Given the description of an element on the screen output the (x, y) to click on. 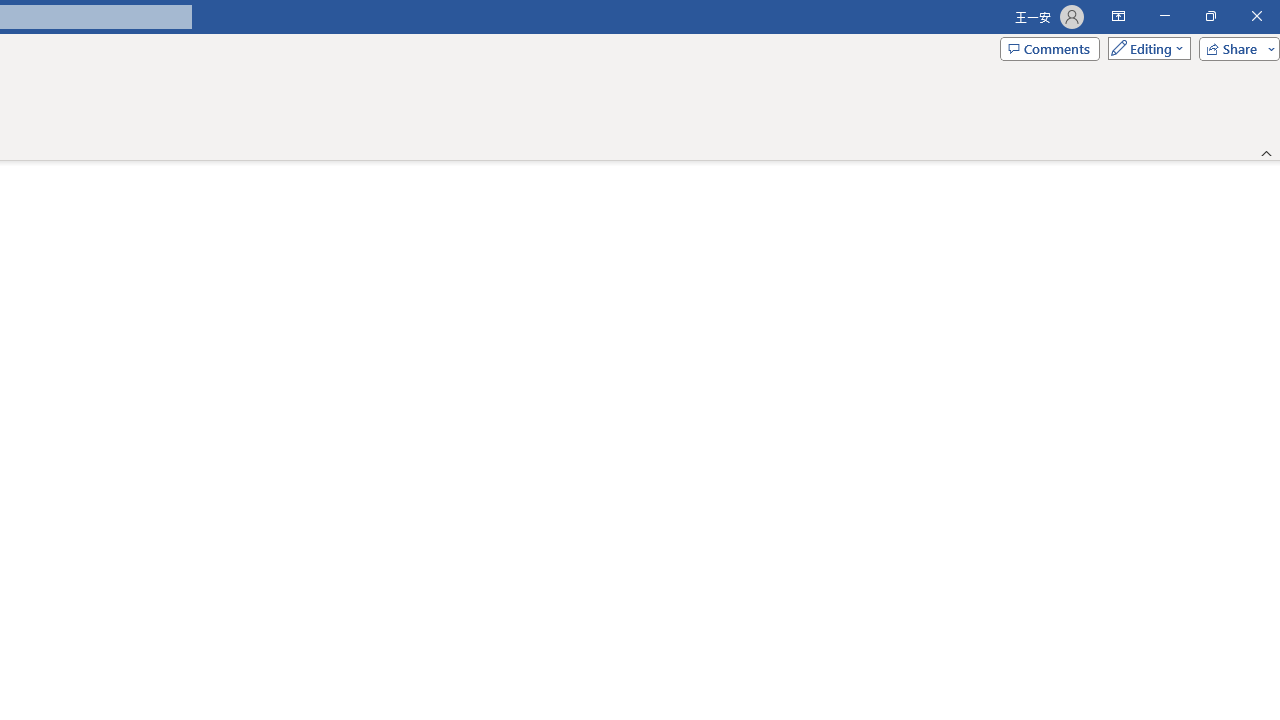
Comments (1049, 48)
Restore Down (1210, 16)
Ribbon Display Options (1118, 16)
Close (1256, 16)
Collapse the Ribbon (1267, 152)
Editing (1144, 47)
Minimize (1164, 16)
Share (1235, 48)
